Given the description of an element on the screen output the (x, y) to click on. 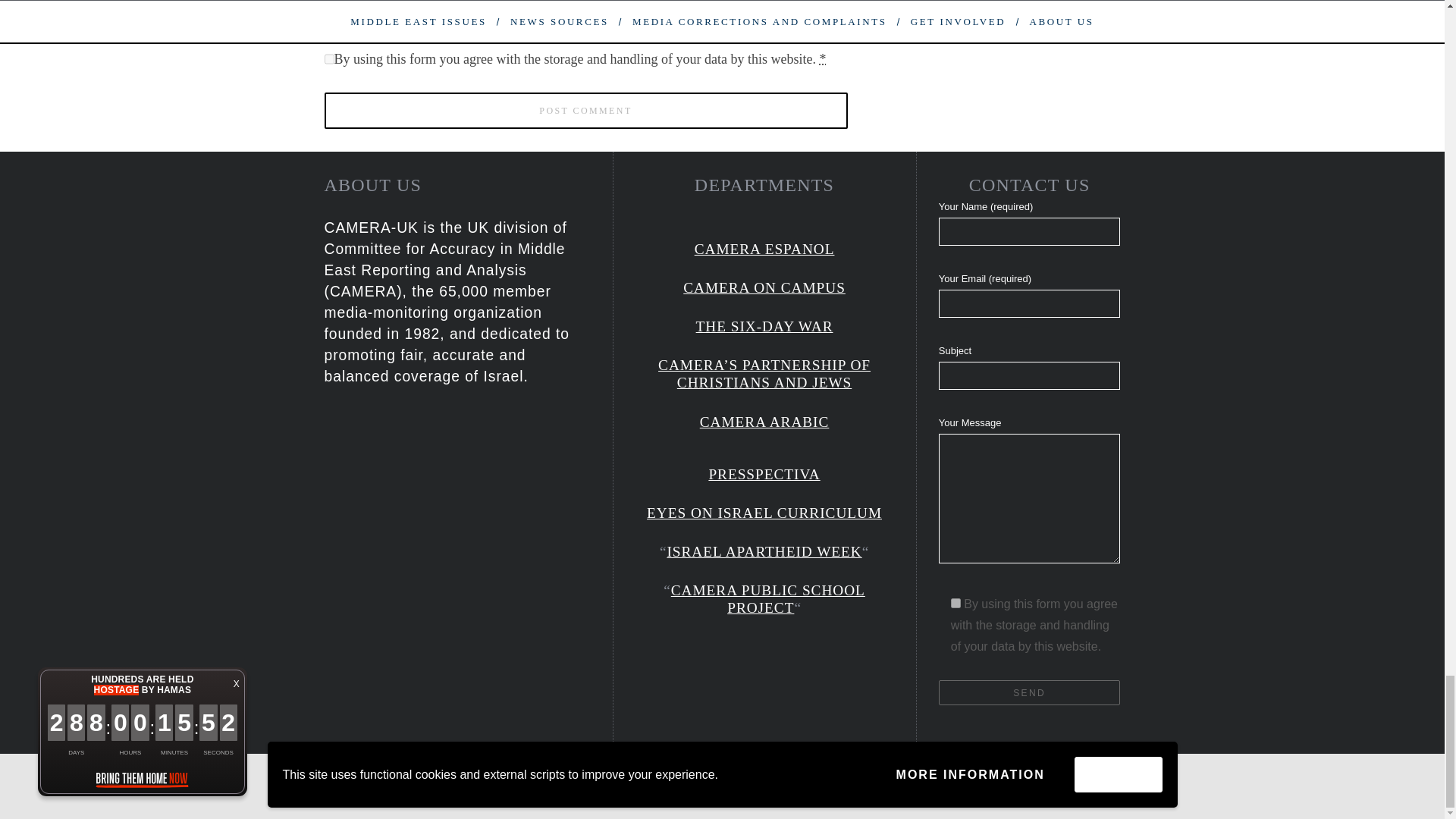
1 (955, 603)
Post Comment (585, 110)
yes (329, 14)
